Given the description of an element on the screen output the (x, y) to click on. 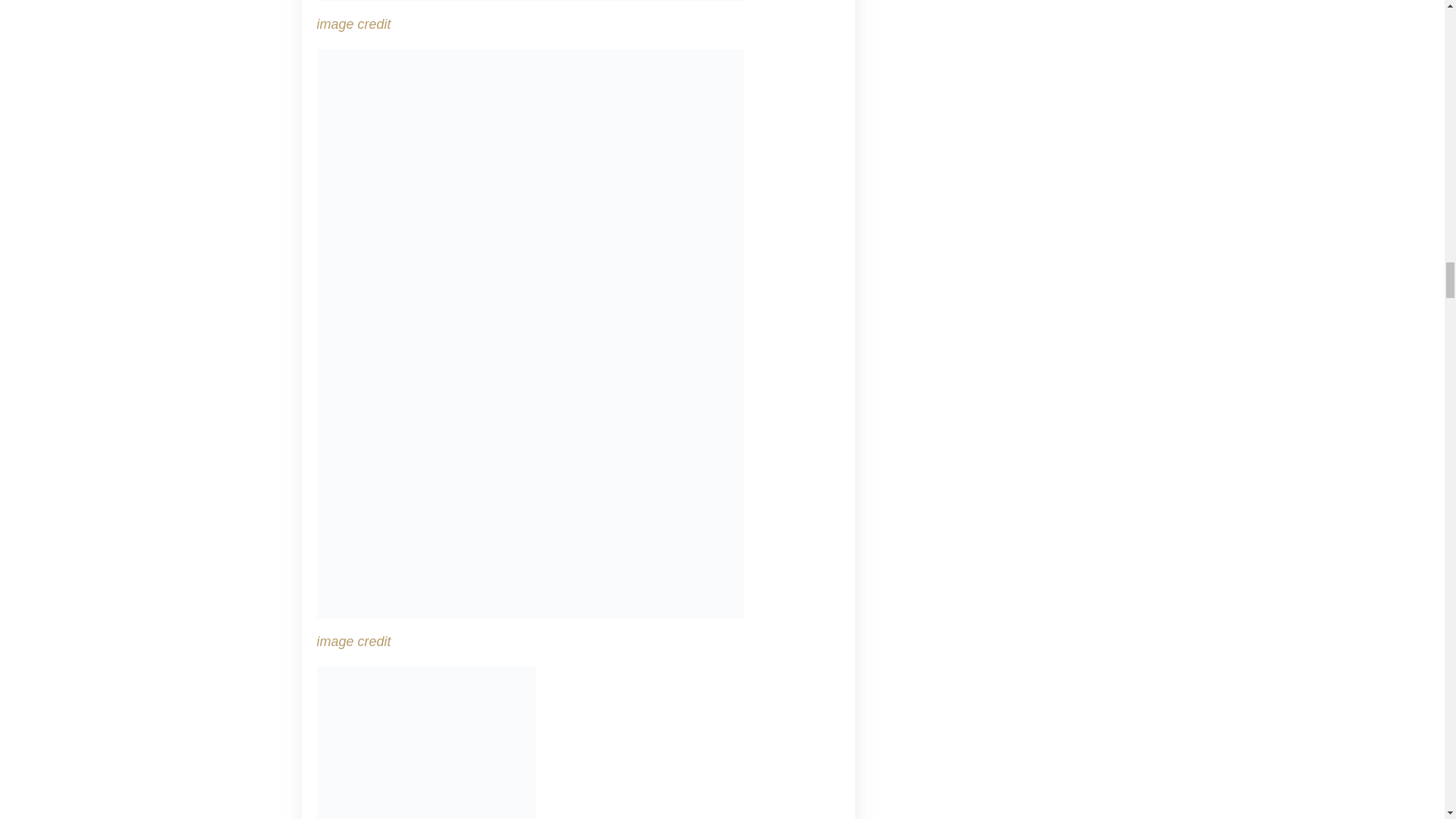
image credit (354, 23)
image credit (354, 641)
